Given the description of an element on the screen output the (x, y) to click on. 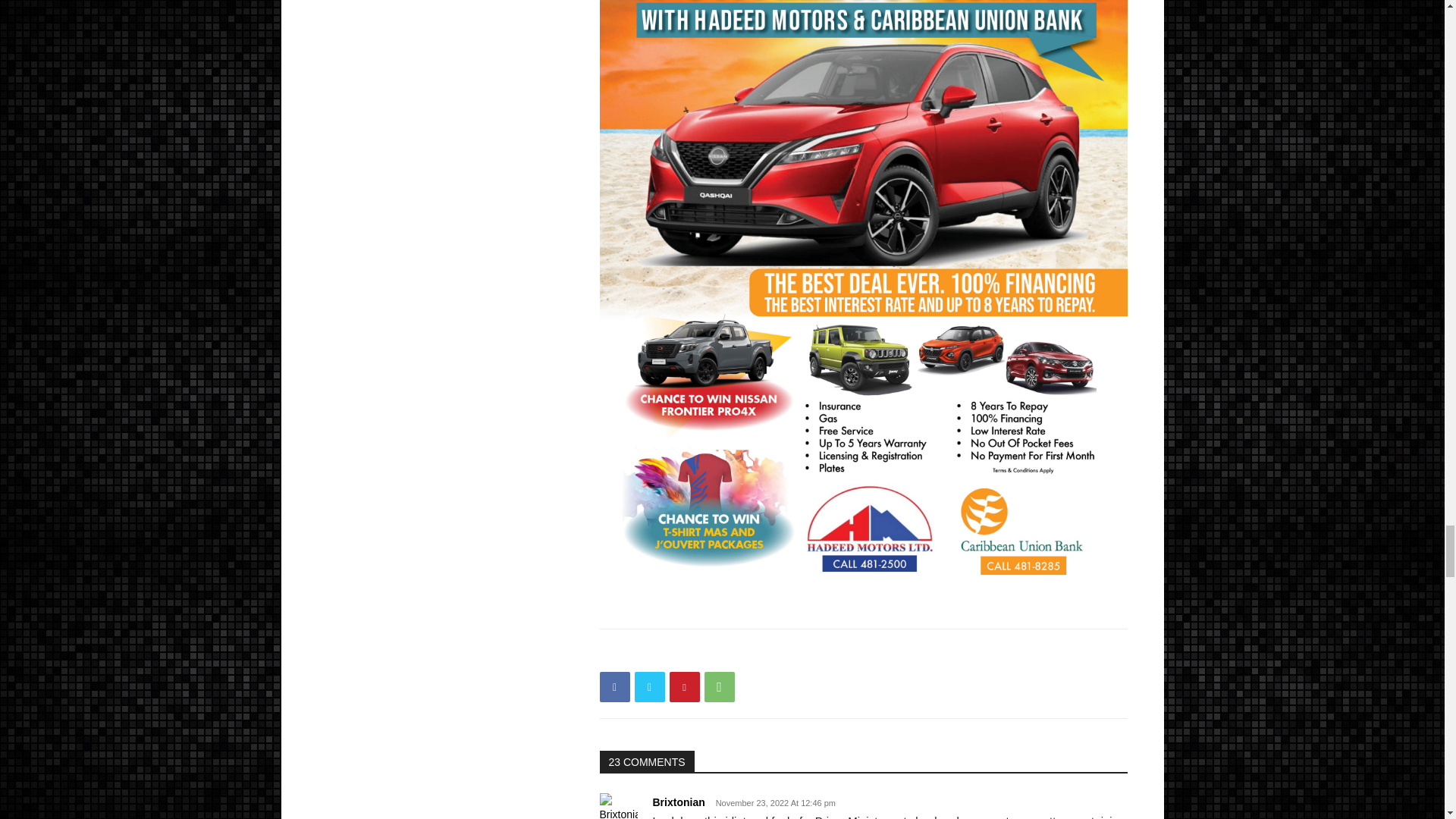
bottomFacebookLike (712, 652)
Facebook (613, 686)
WhatsApp (718, 686)
Pinterest (683, 686)
Twitter (648, 686)
